Given the description of an element on the screen output the (x, y) to click on. 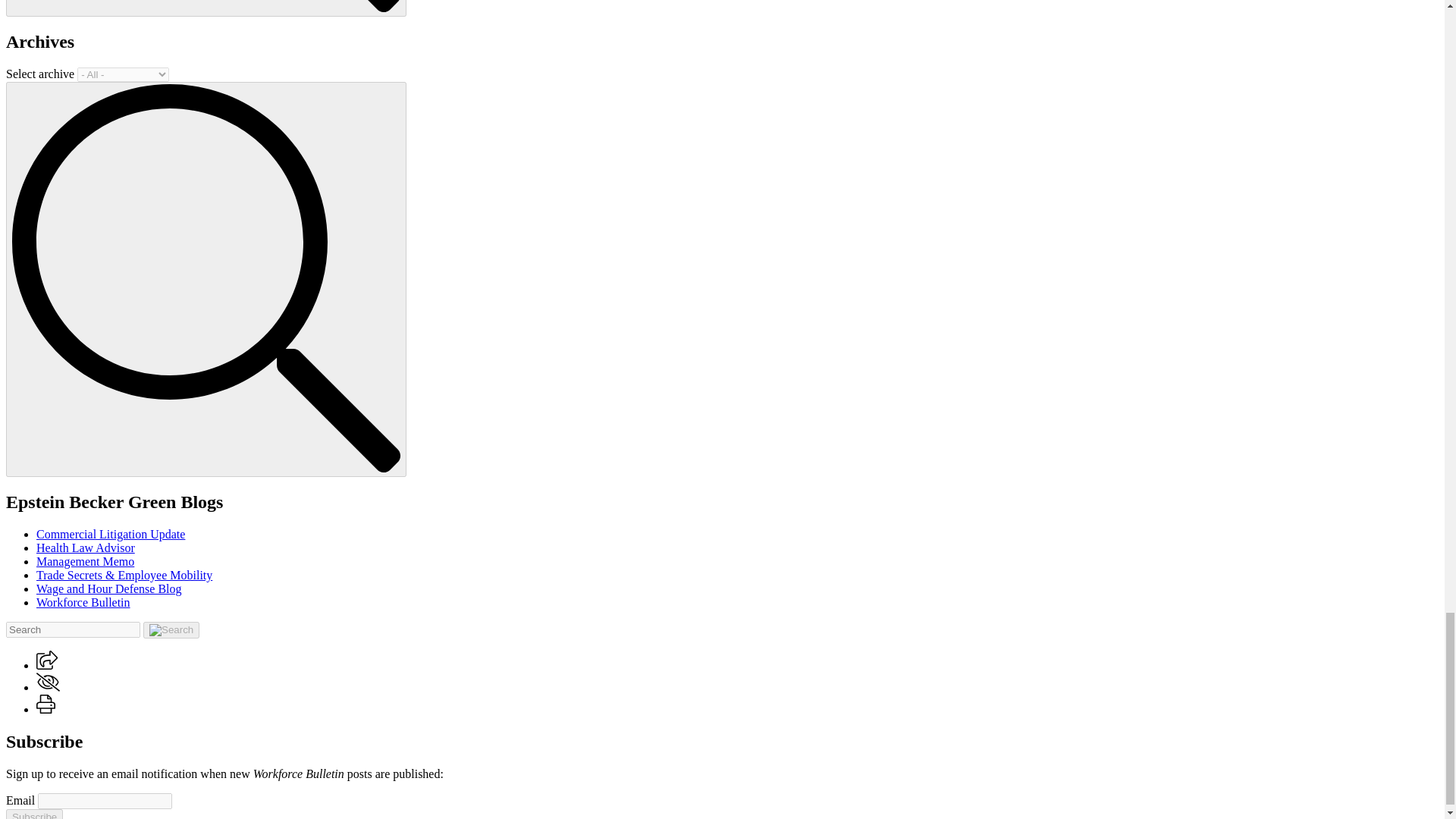
Go to the privacy settings (47, 681)
Share (47, 665)
Share (47, 659)
Search (205, 6)
Print (45, 703)
